Given the description of an element on the screen output the (x, y) to click on. 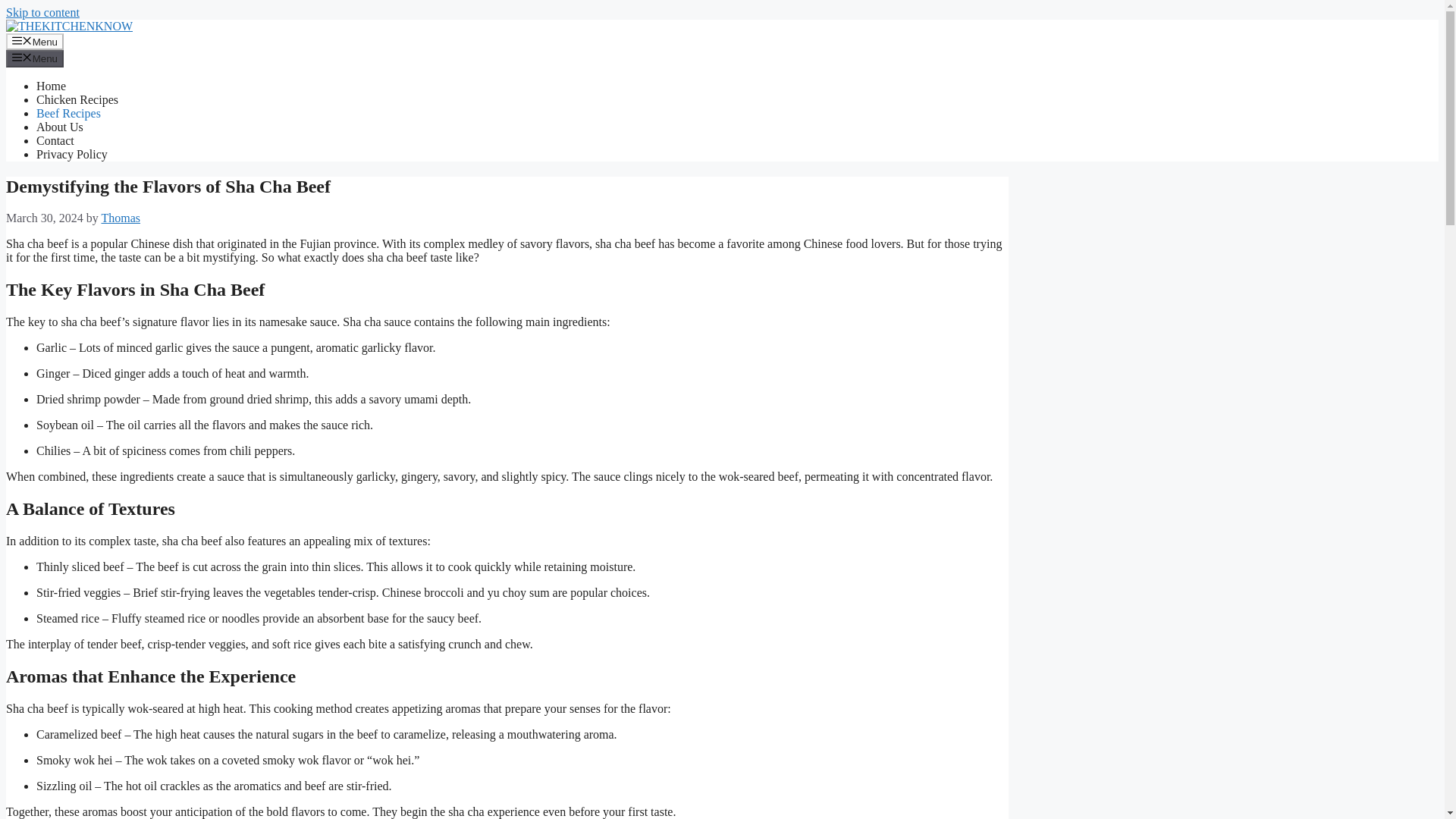
Home (50, 85)
Privacy Policy (71, 154)
About Us (59, 126)
Contact (55, 140)
Skip to content (42, 11)
View all posts by Thomas (119, 217)
Thomas (119, 217)
Menu (34, 41)
Menu (34, 57)
Chicken Recipes (76, 99)
Skip to content (42, 11)
Beef Recipes (68, 113)
